Given the description of an element on the screen output the (x, y) to click on. 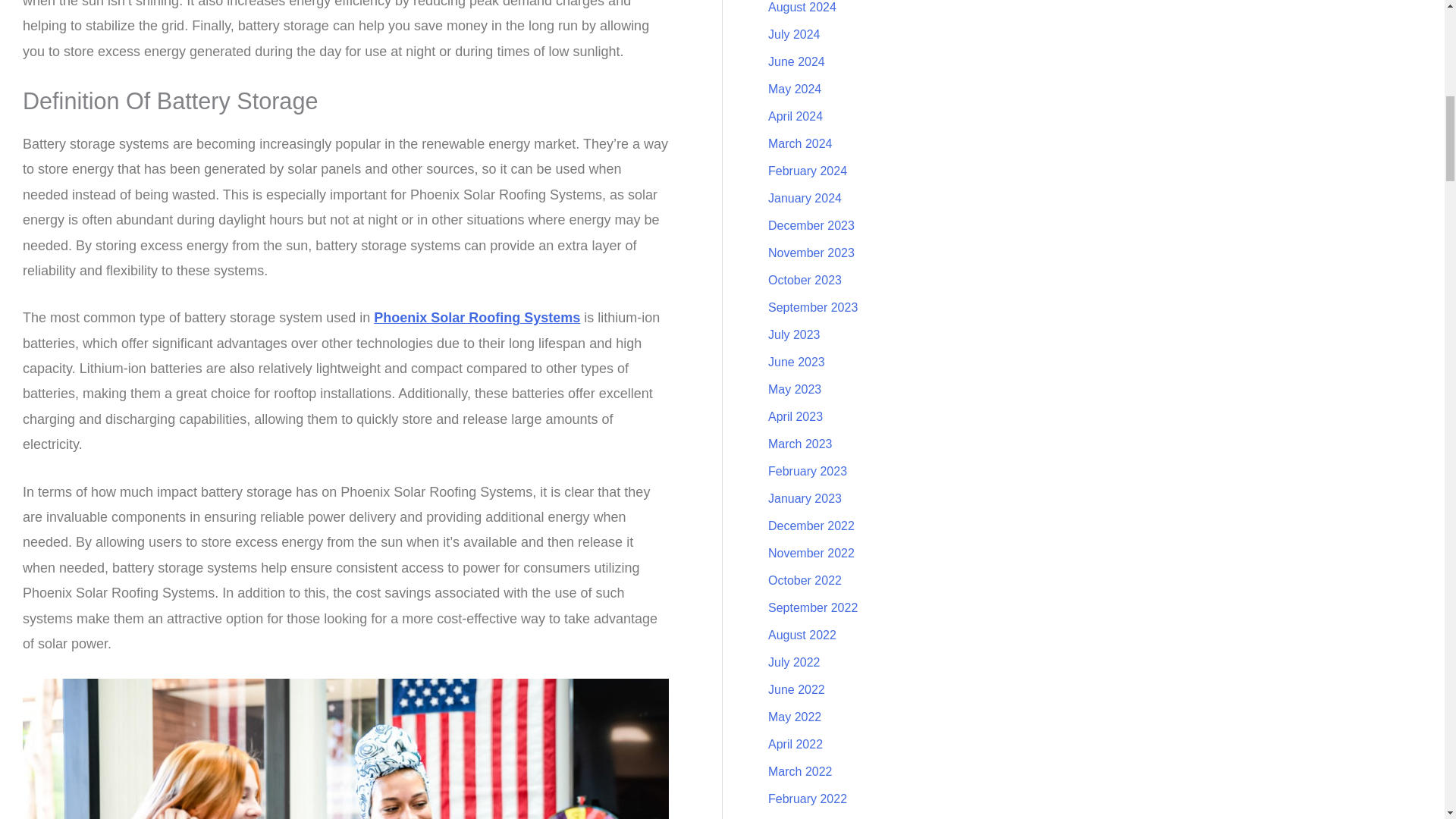
Phoenix Solar Roofing Systems (476, 317)
July 2024 (794, 33)
August 2024 (801, 6)
